Given the description of an element on the screen output the (x, y) to click on. 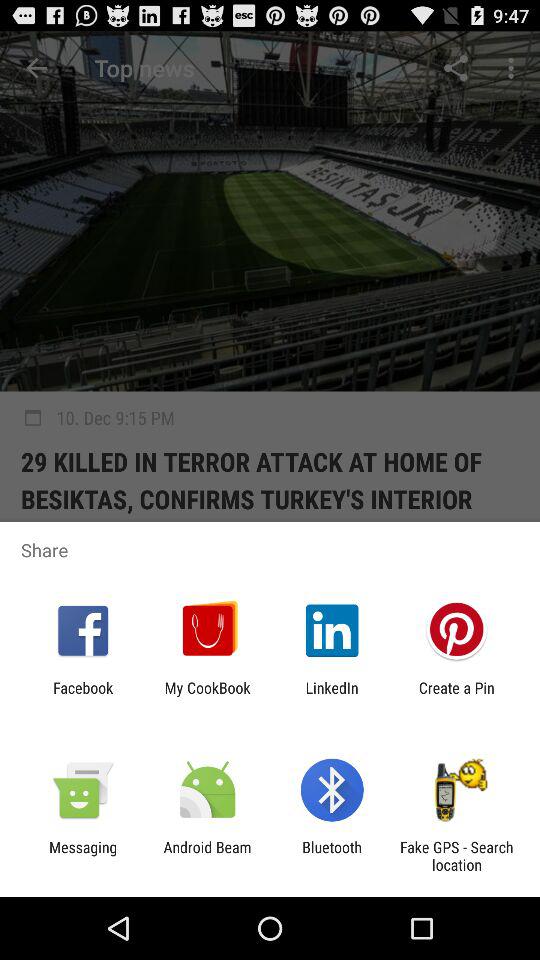
flip until the facebook (83, 696)
